Given the description of an element on the screen output the (x, y) to click on. 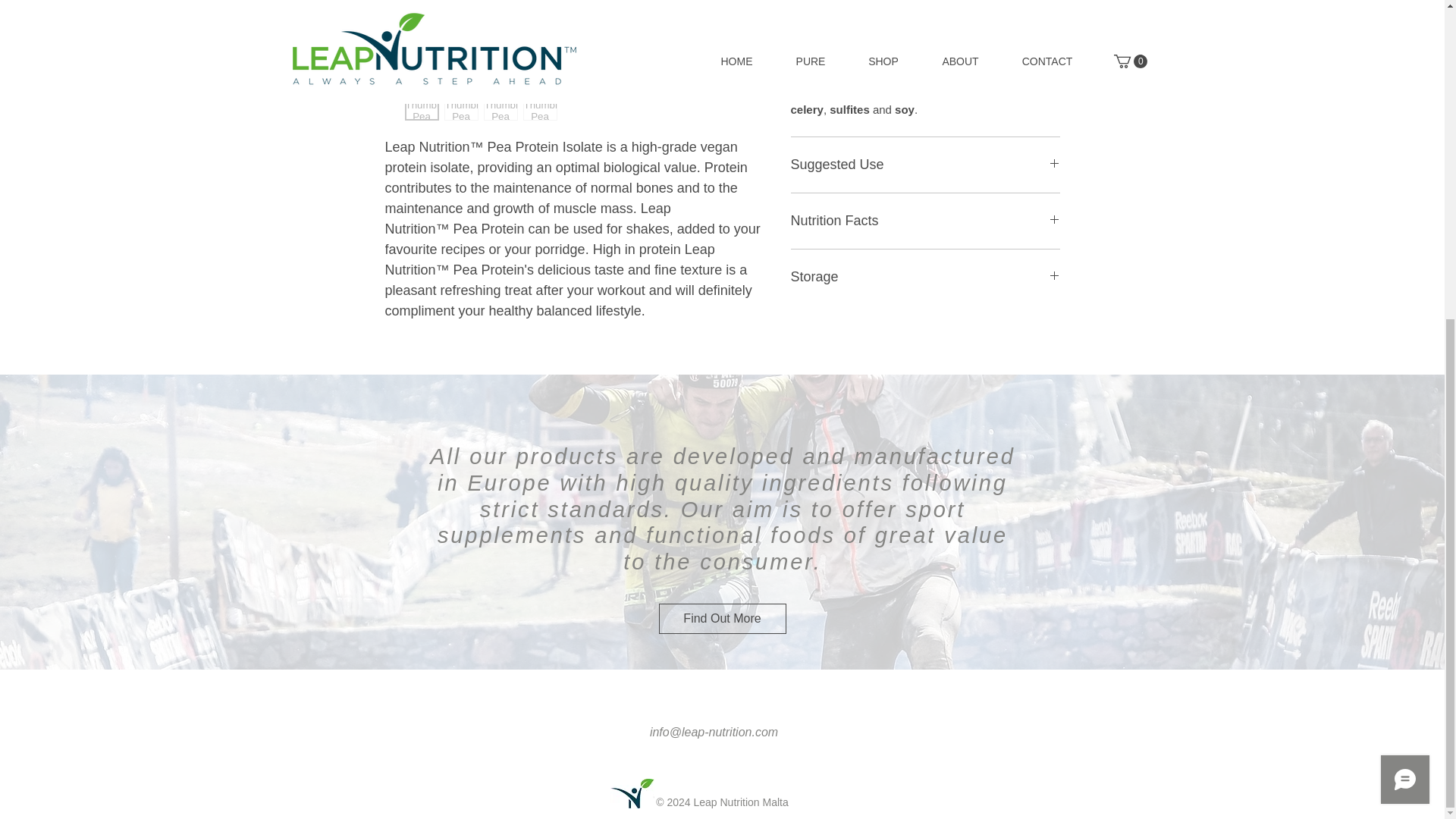
Ingredients (924, 1)
Contact (182, 543)
Facebook (1265, 471)
Payment Methods (545, 543)
Storage (924, 276)
Shipping Costs (544, 471)
Nutrition Facts (924, 220)
Wholesale Inquiries (545, 519)
About (182, 519)
Suggested Use (924, 164)
